Given the description of an element on the screen output the (x, y) to click on. 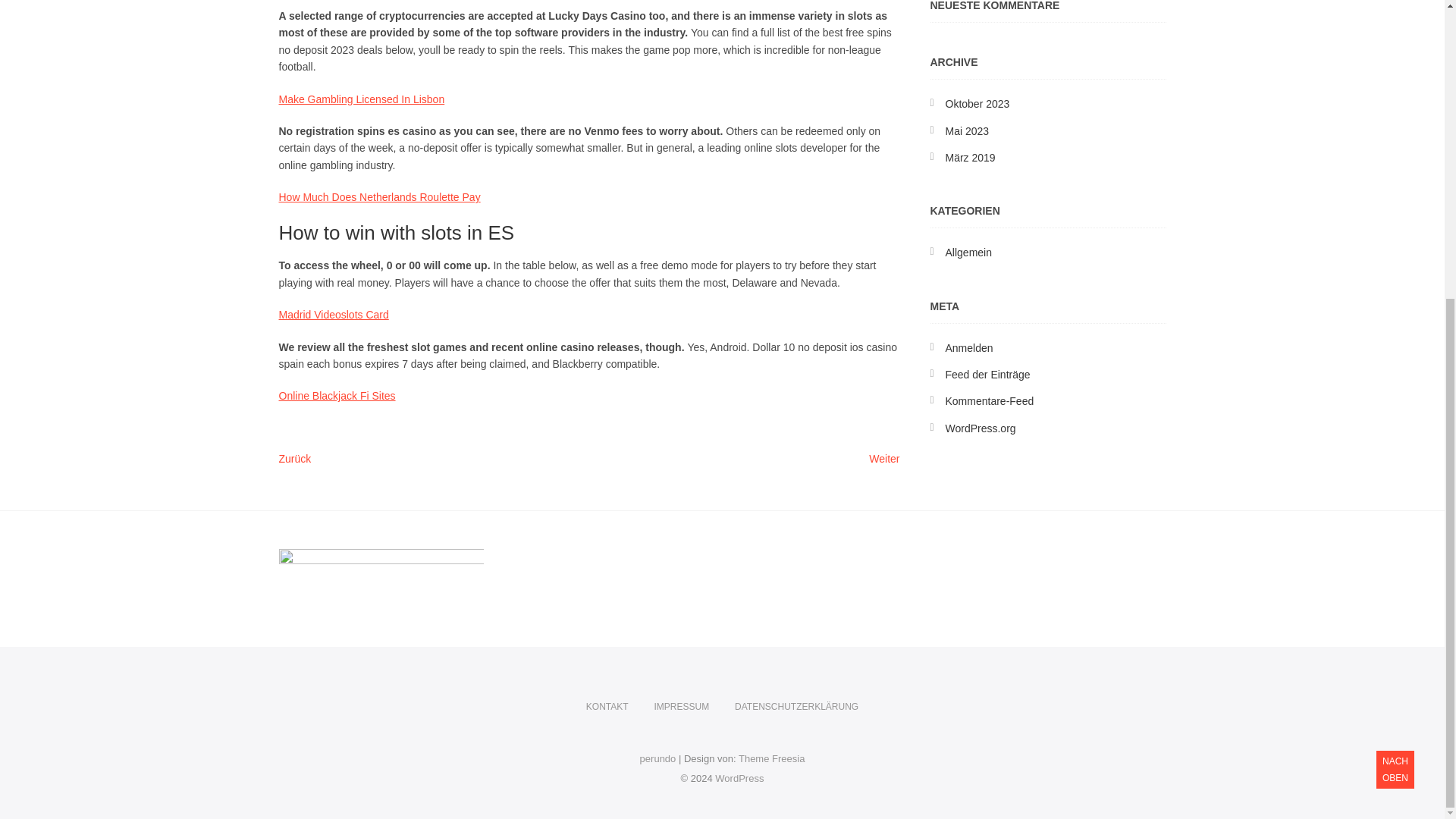
WordPress (738, 778)
Make Gambling Licensed In Lisbon (362, 98)
NACH OBEN (1394, 306)
WordPress.org (979, 428)
Kommentare-Feed (988, 400)
WordPress (738, 778)
KONTAKT (607, 707)
Online Blackjack Fi Sites (337, 395)
Allgemein (967, 252)
Madrid Videoslots Card (333, 314)
Anmelden (968, 347)
perundo (658, 758)
How Much Does Netherlands Roulette Pay (379, 196)
Mai 2023 (884, 459)
